Given the description of an element on the screen output the (x, y) to click on. 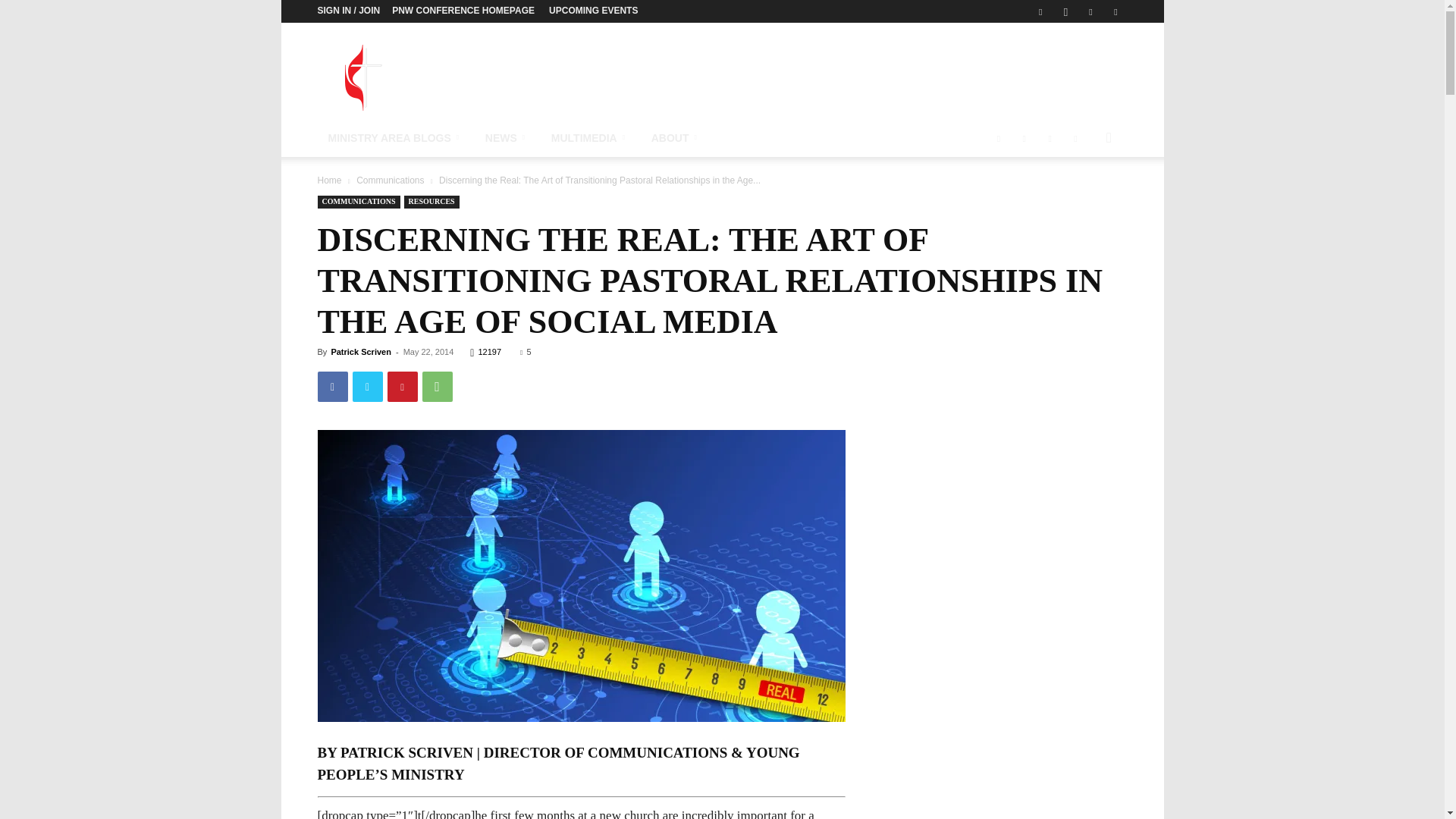
View all posts in Communications (389, 180)
PNW CONFERENCE HOMEPAGE (462, 9)
Facebook (1040, 11)
Instagram (1065, 11)
Youtube (1114, 11)
Twitter (1090, 11)
Facebook (332, 386)
Twitter (366, 386)
UPCOMING EVENTS (592, 9)
